Given the description of an element on the screen output the (x, y) to click on. 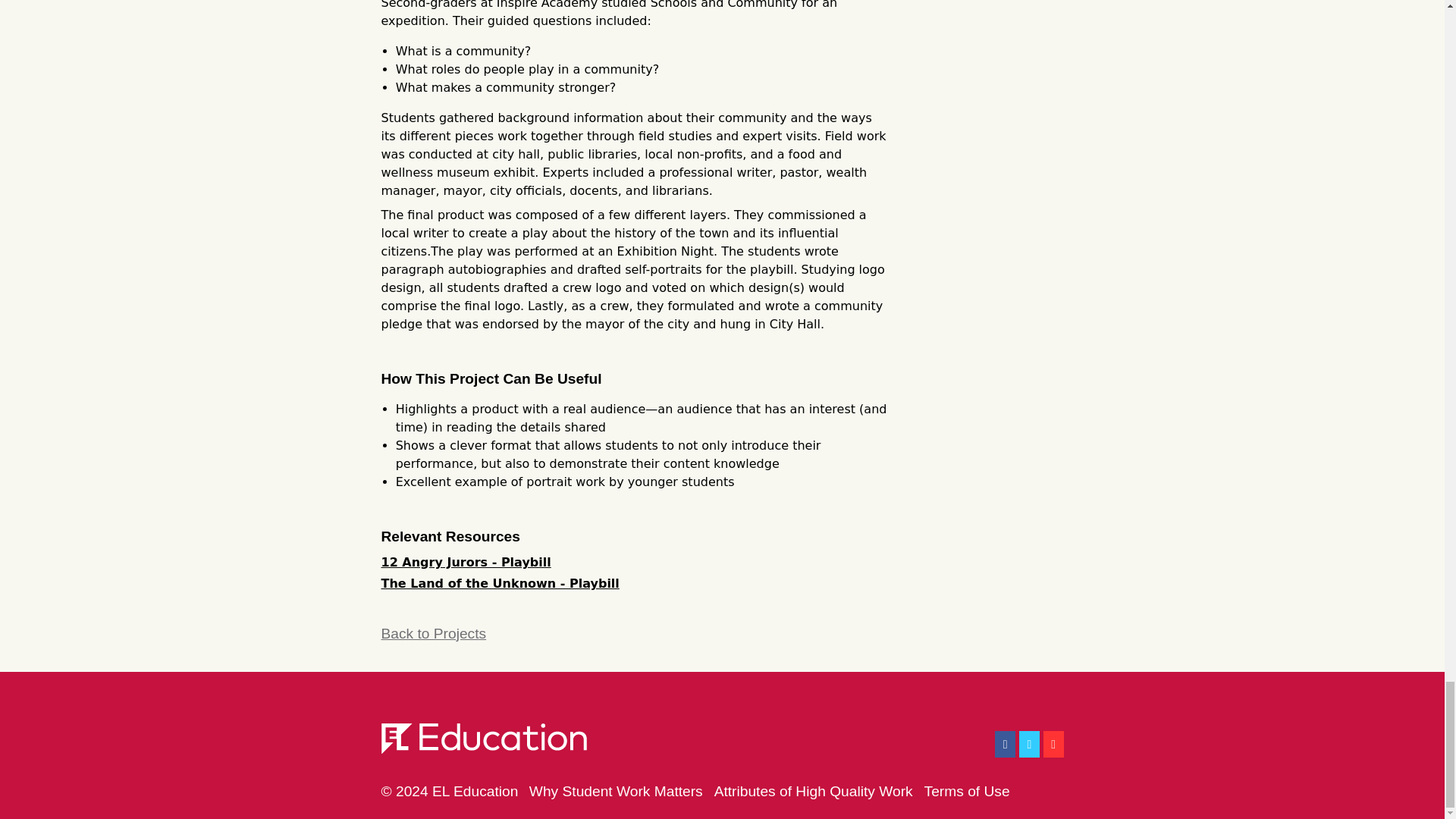
12 Angry Jurors - Playbill (465, 562)
Back to Projects (721, 633)
The Land of the Unknown - Playbill (499, 583)
